Given the description of an element on the screen output the (x, y) to click on. 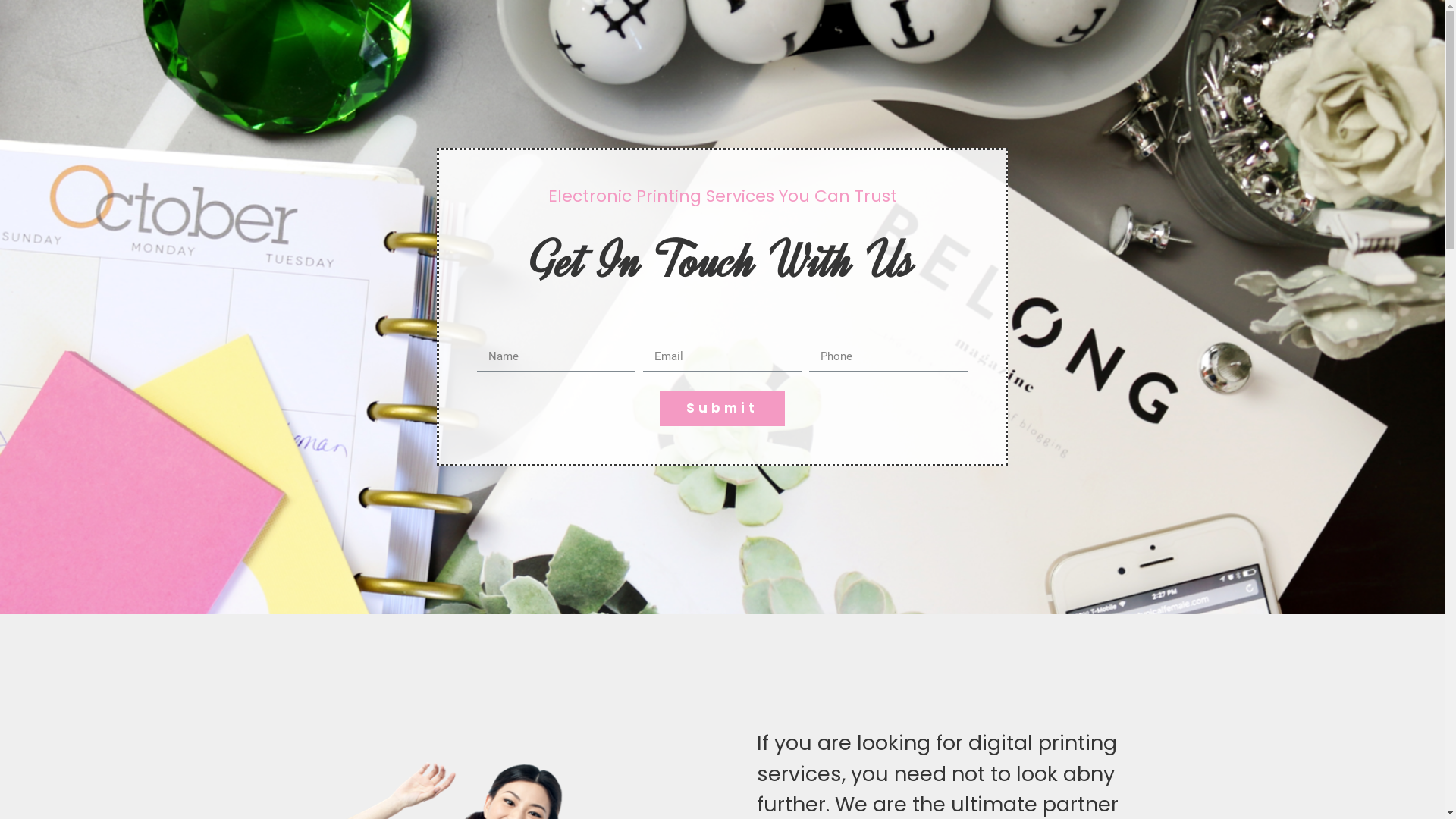
Submit Element type: text (721, 408)
